Given the description of an element on the screen output the (x, y) to click on. 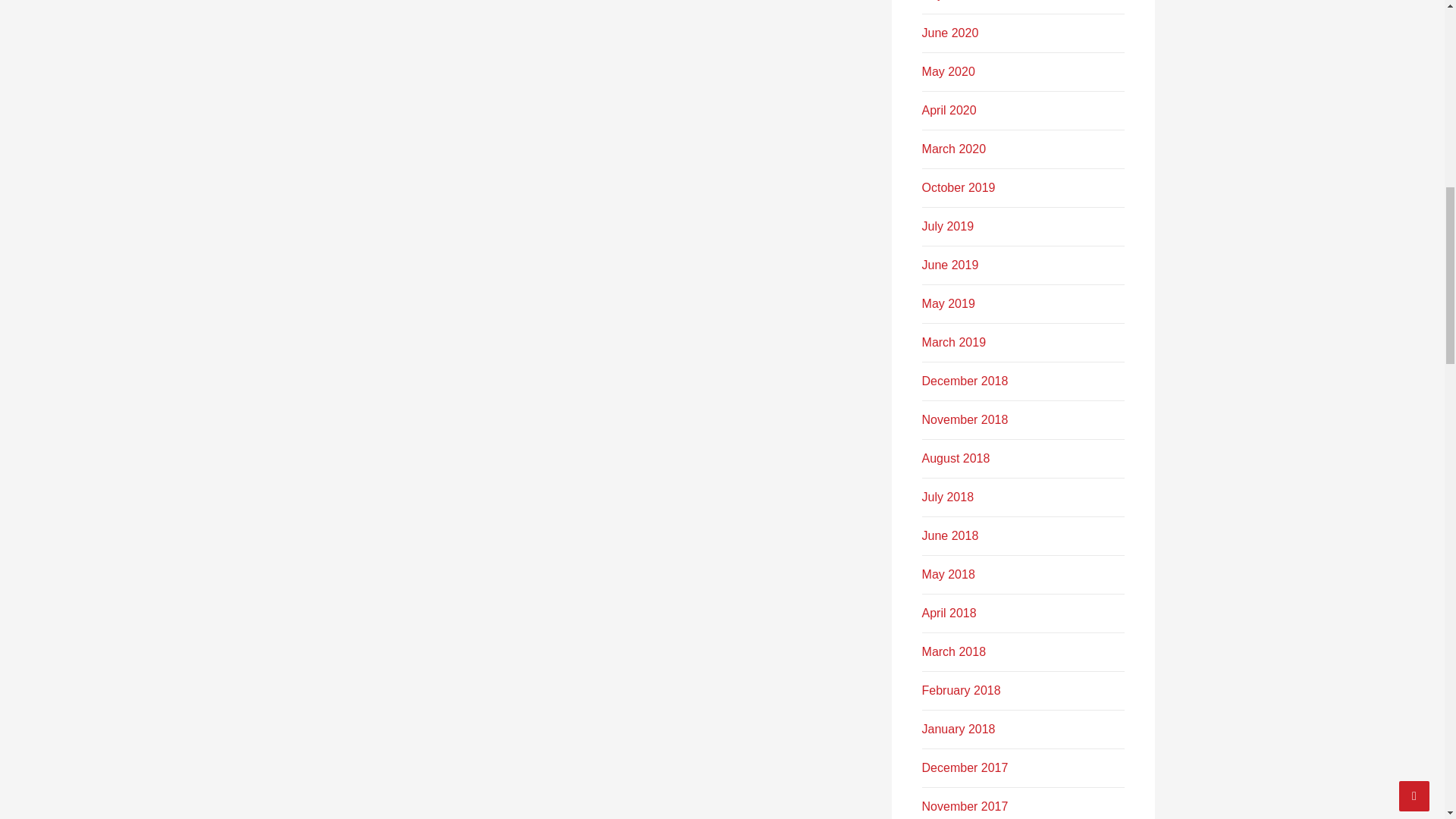
June 2019 (949, 264)
October 2019 (958, 187)
August 2018 (955, 458)
November 2018 (965, 419)
July 2019 (947, 226)
May 2020 (948, 71)
July 2018 (947, 496)
May 2019 (948, 303)
March 2020 (954, 148)
July 2020 (947, 0)
